Given the description of an element on the screen output the (x, y) to click on. 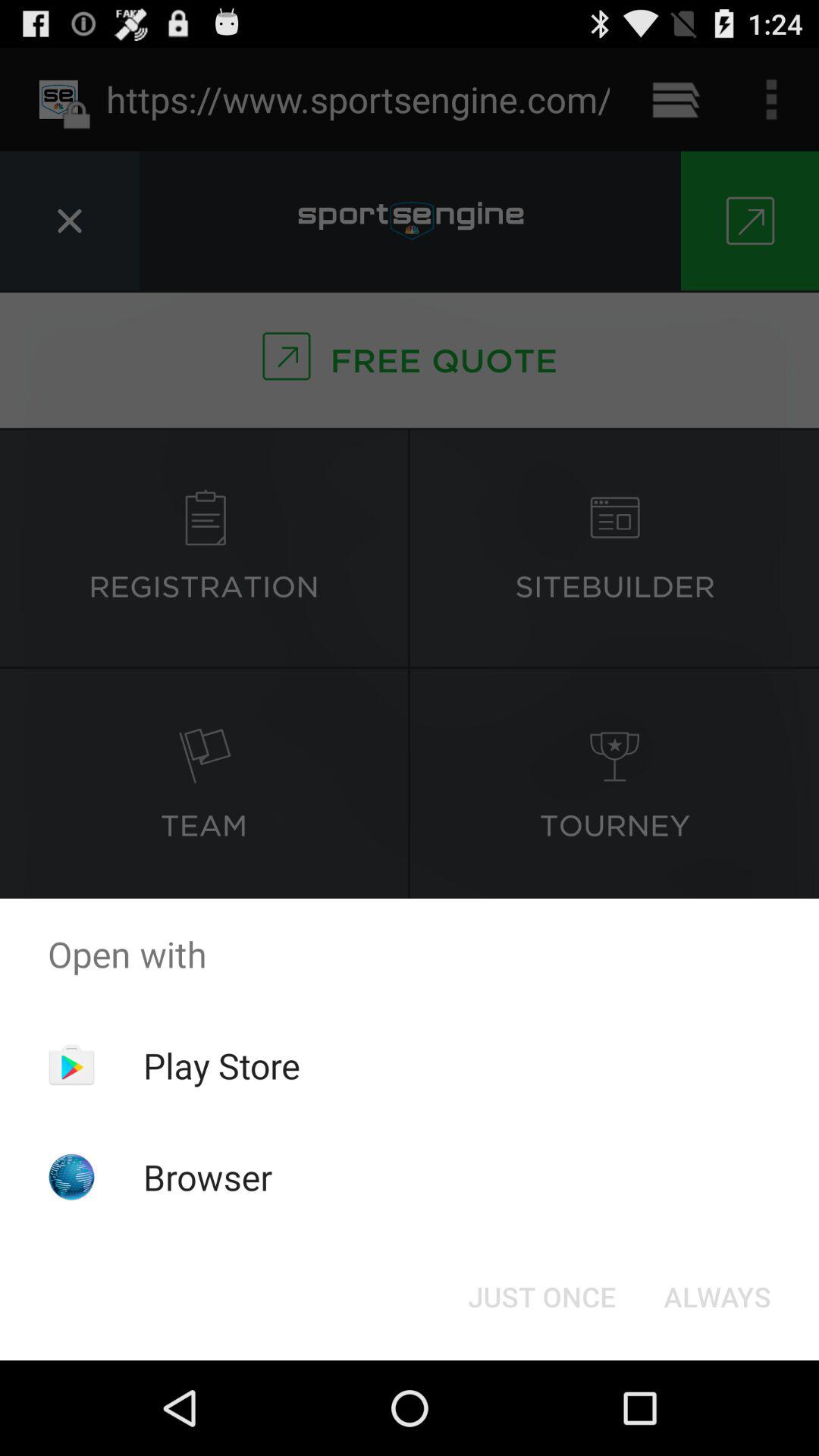
click item below open with app (717, 1296)
